Given the description of an element on the screen output the (x, y) to click on. 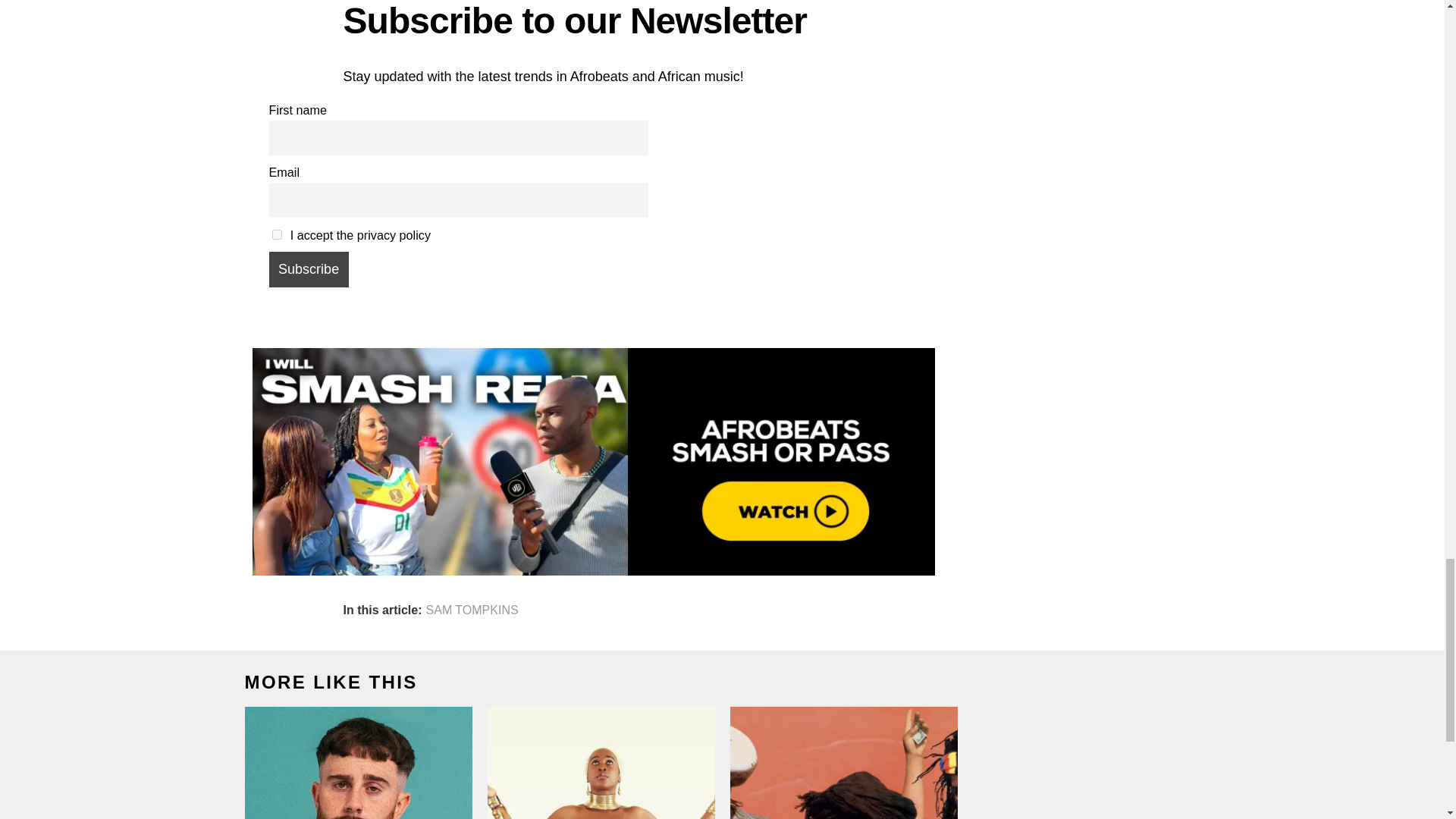
on (275, 234)
Subscribe (307, 268)
